Given the description of an element on the screen output the (x, y) to click on. 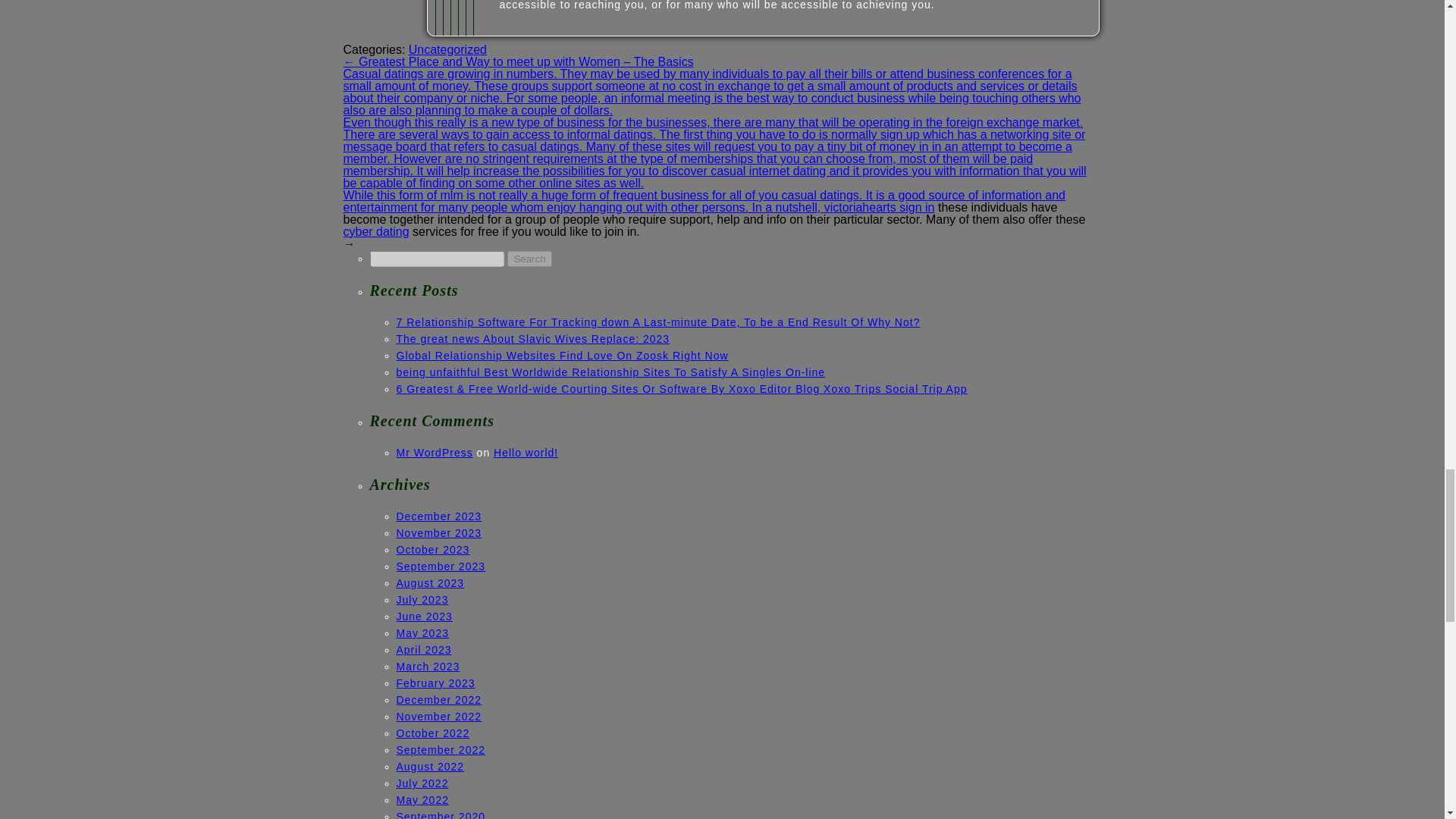
Uncategorized (447, 49)
Global Relationship Websites Find Love On Zoosk Right Now (562, 355)
Mr WordPress (433, 452)
Search (528, 258)
Hello world! (525, 452)
cyber dating (375, 231)
June 2023 (423, 616)
The great news About Slavic Wives Replace: 2023 (532, 338)
